Given the description of an element on the screen output the (x, y) to click on. 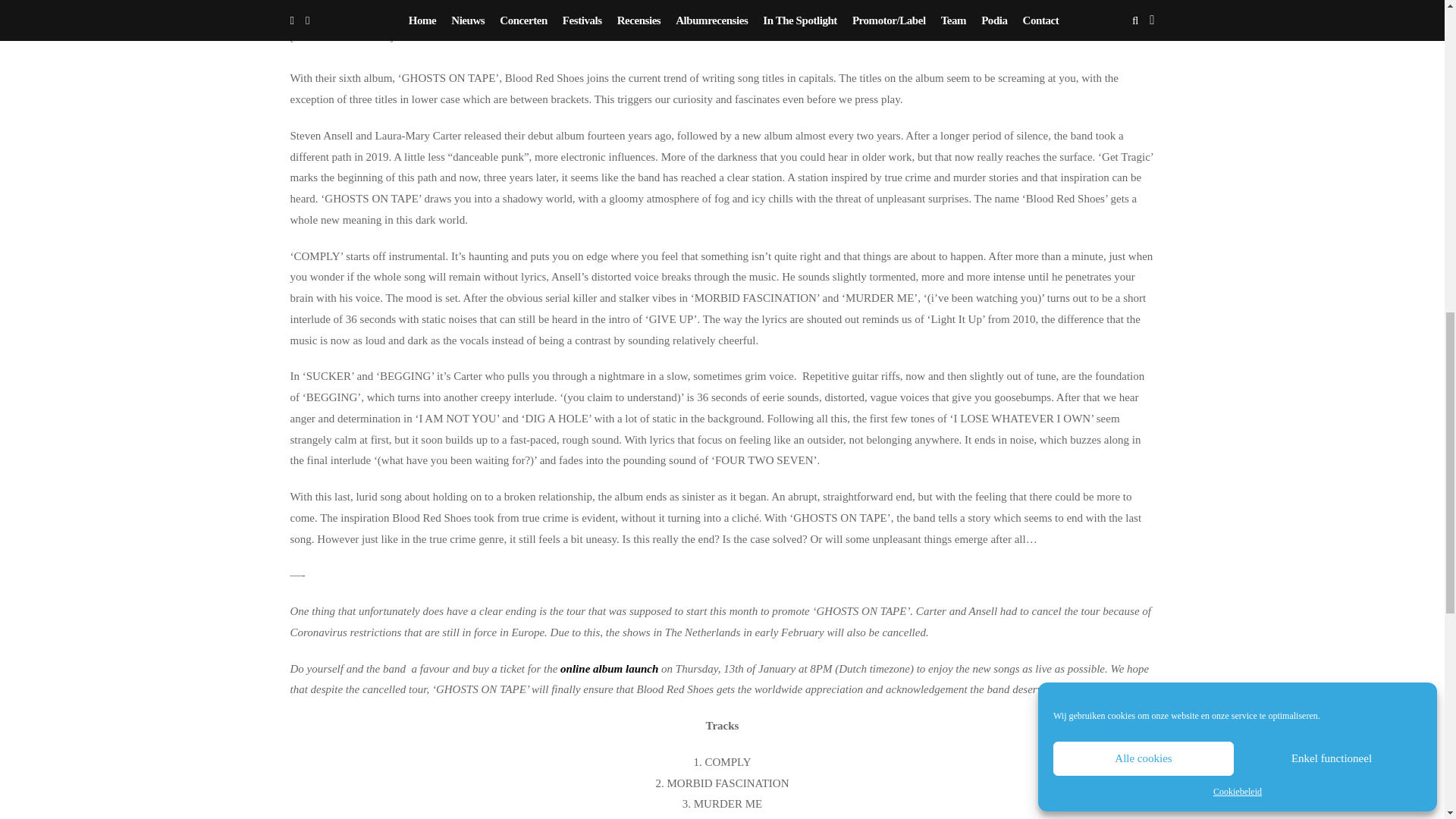
here (379, 36)
